Given the description of an element on the screen output the (x, y) to click on. 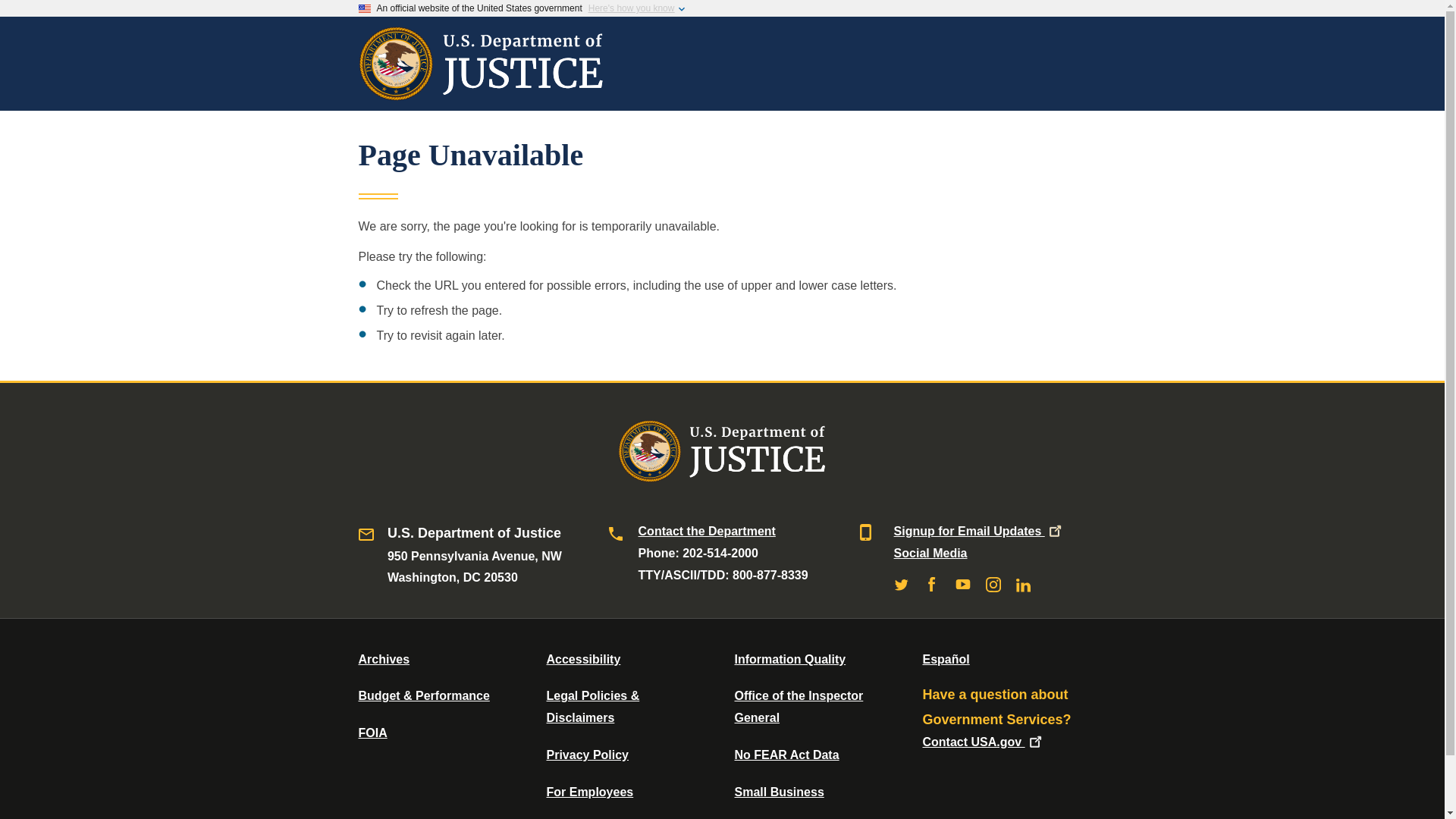
Archives (383, 658)
Contact the Department (707, 530)
Home (481, 93)
Small Business (778, 791)
Contact USA.gov (982, 741)
Accessibility (583, 658)
Office of the Inspector General (798, 706)
FOIA (372, 732)
For Employees (589, 791)
Privacy Policy (587, 754)
No FEAR Act Data (785, 754)
Signup for Email Updates (978, 530)
Here's how you know (631, 8)
Social Media (930, 553)
Information Quality (789, 658)
